Given the description of an element on the screen output the (x, y) to click on. 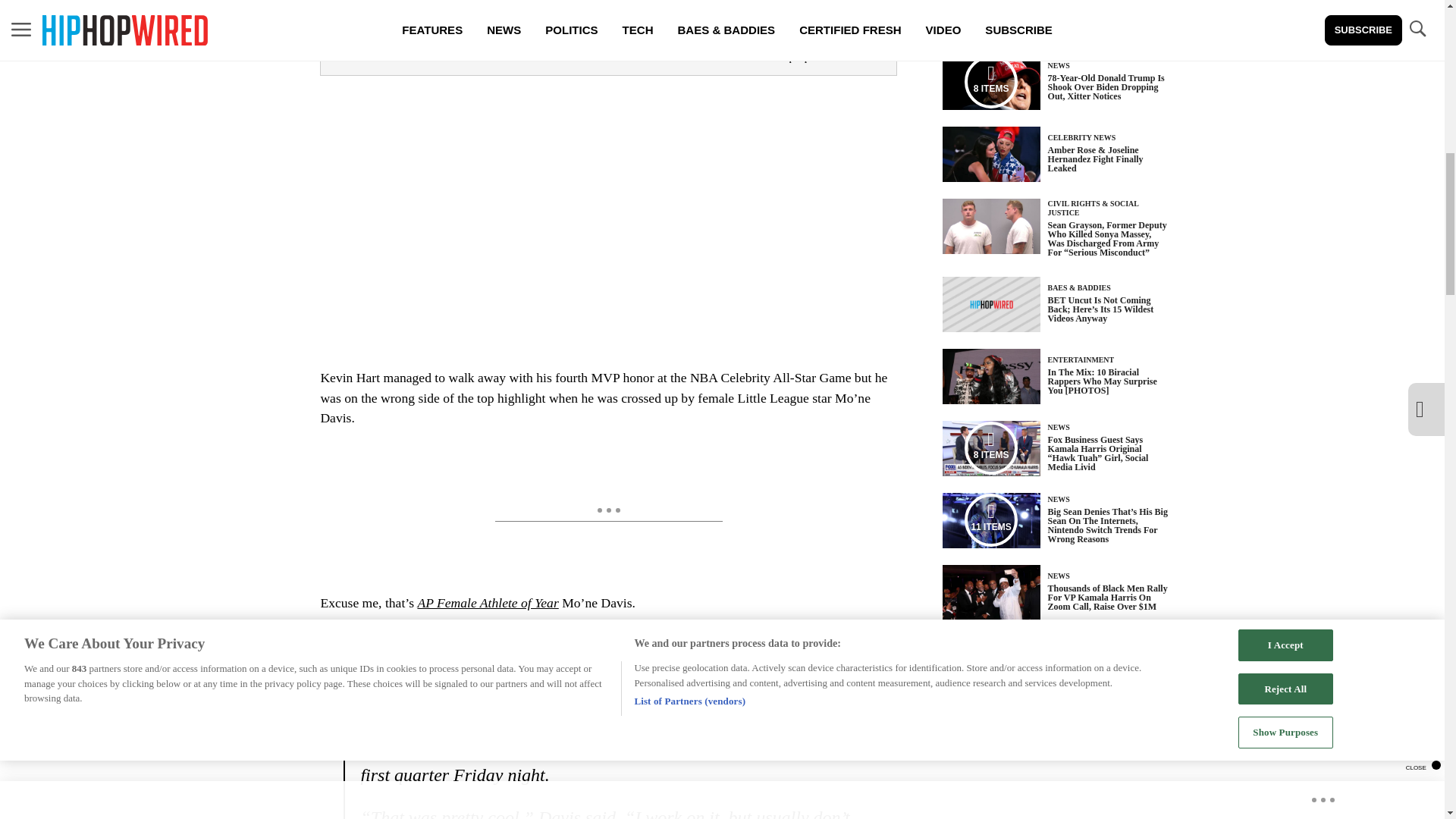
MSN (356, 642)
Media Playlist (990, 81)
Embedded video (607, 212)
AP Female Athlete of Year (486, 602)
Media Playlist (990, 448)
8 ITEMS (991, 81)
Media Playlist (990, 520)
